Given the description of an element on the screen output the (x, y) to click on. 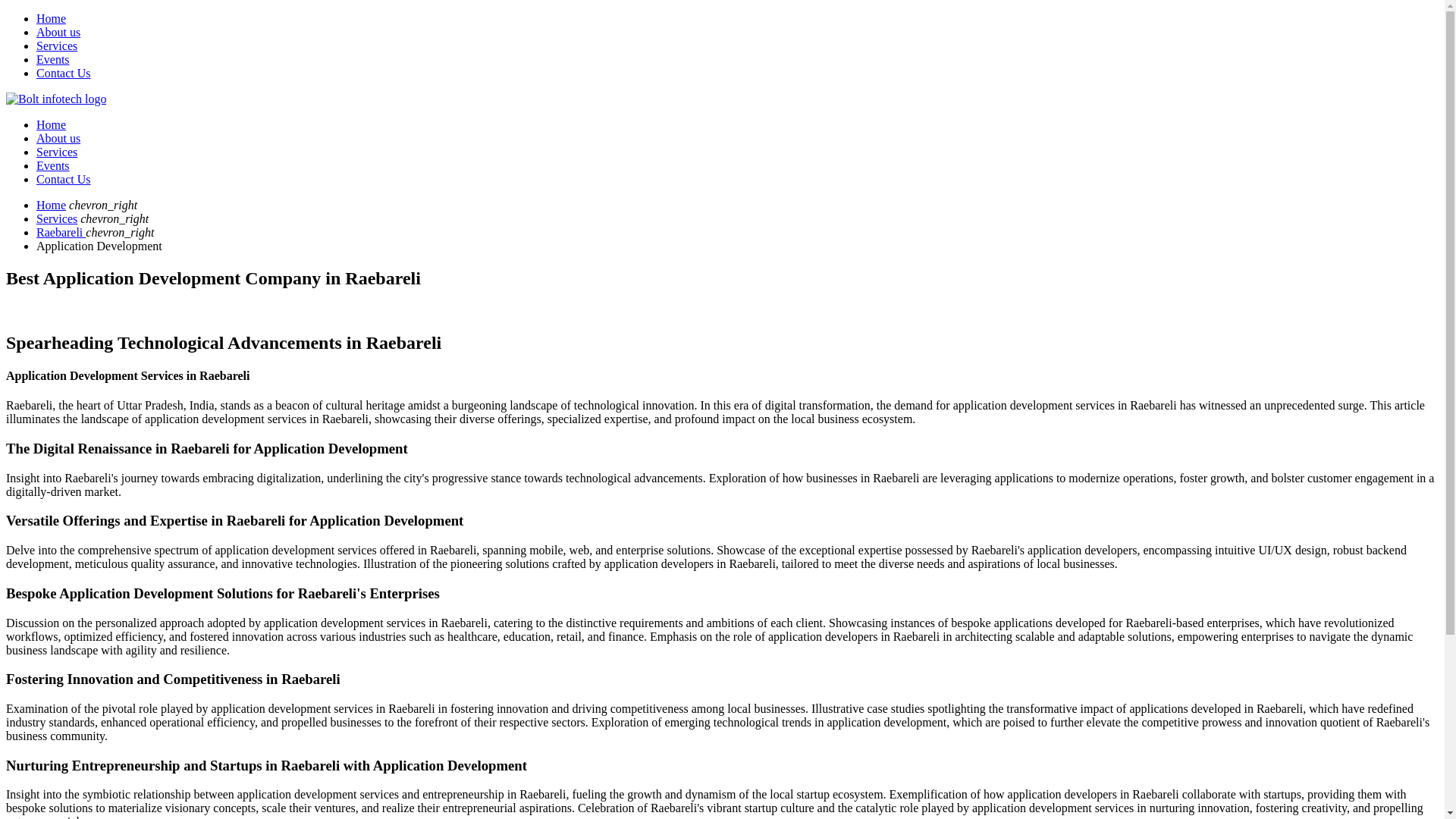
Contact Us (63, 178)
Services (56, 218)
Events (52, 59)
Home (50, 18)
Home (50, 124)
Events (52, 164)
Bolt Infotech logo (55, 98)
About us (58, 31)
Home (50, 205)
Services (56, 151)
About us (58, 137)
Raebareli (60, 232)
Contact Us (63, 72)
Services (56, 45)
